Given the description of an element on the screen output the (x, y) to click on. 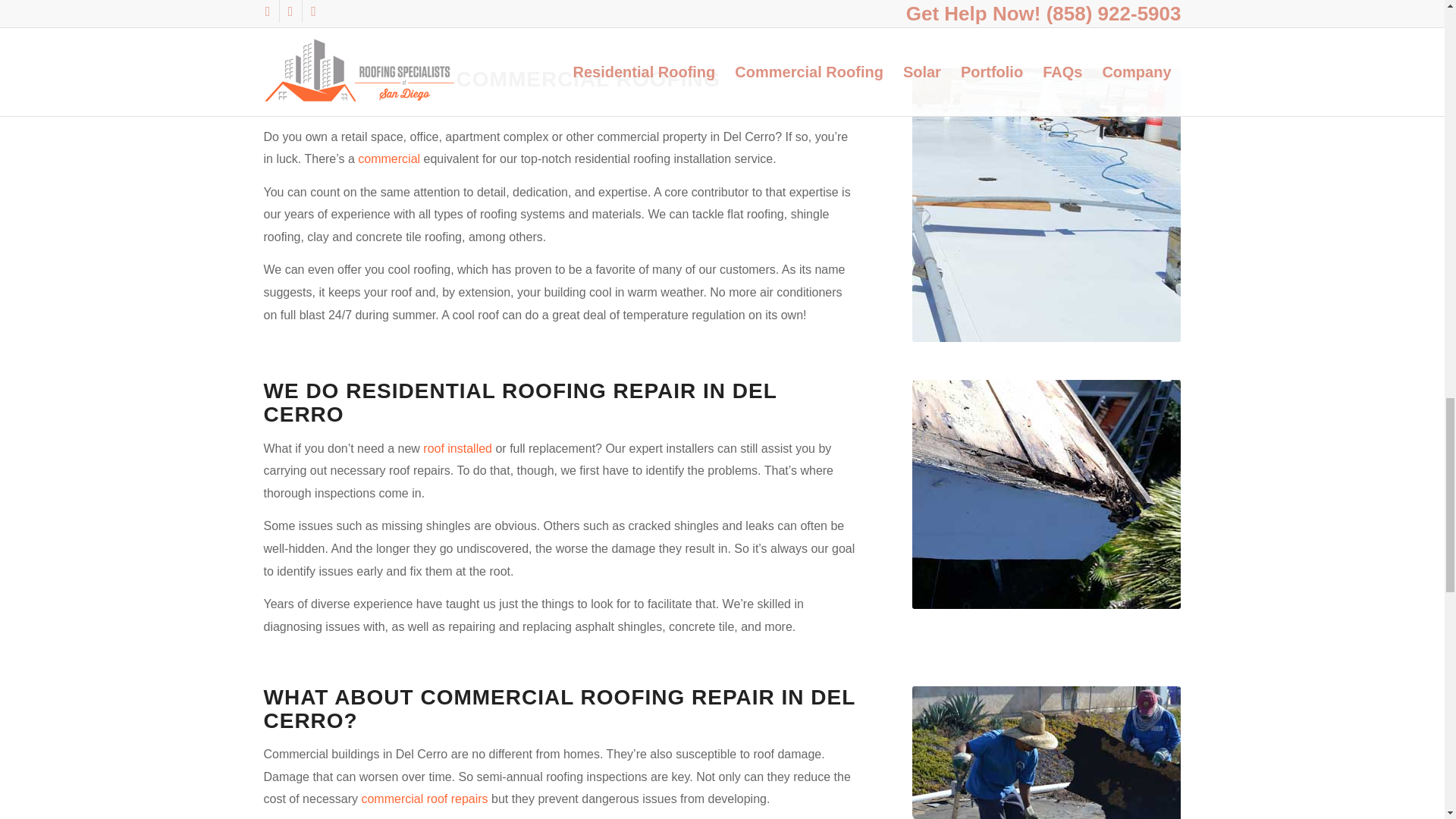
roof installed (457, 448)
commercial (389, 158)
Del-Cerro-roof-repair-with-old-rotted-wood (1046, 494)
commercial roof repairs (424, 798)
